Given the description of an element on the screen output the (x, y) to click on. 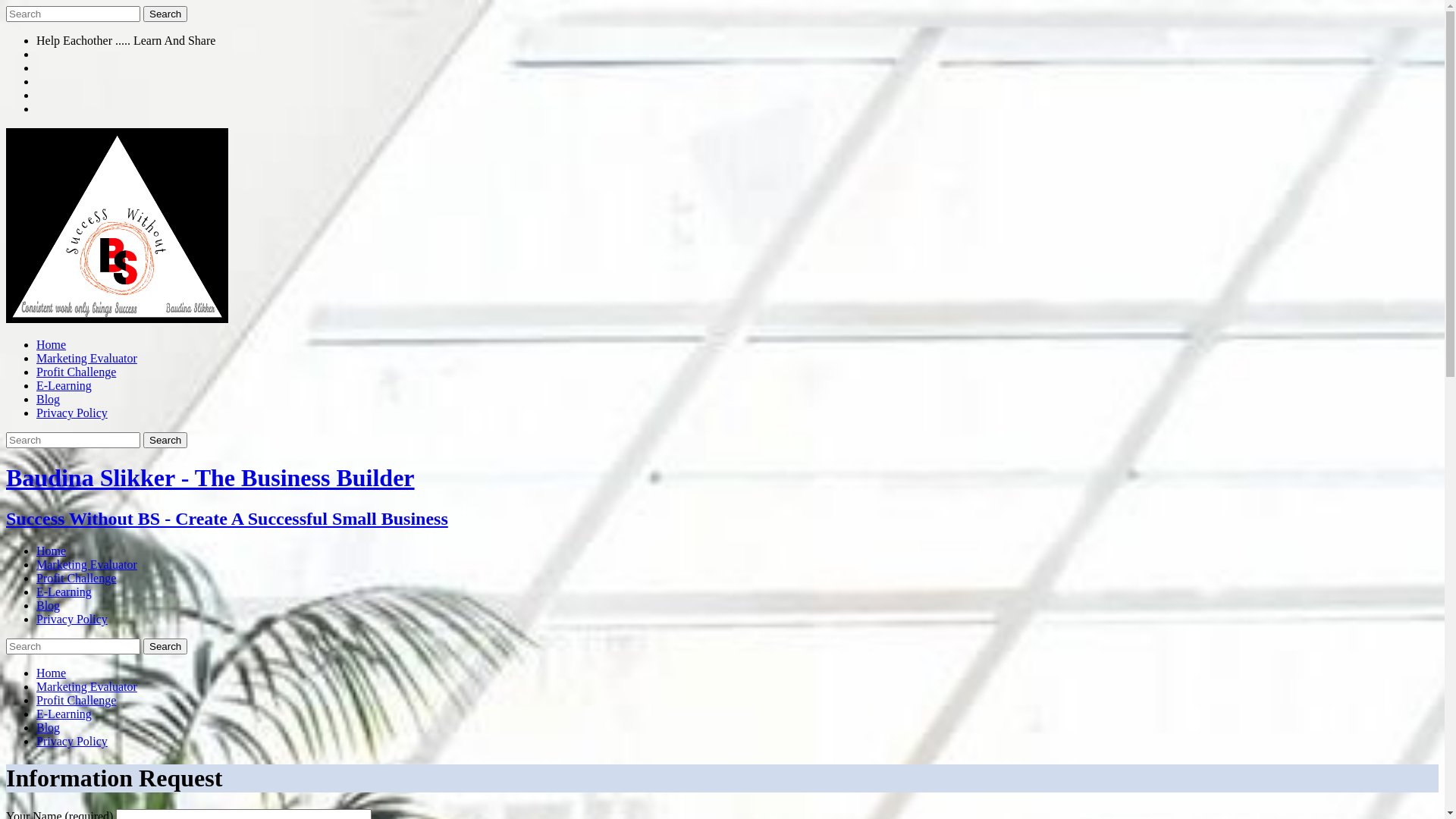
Search Element type: text (165, 13)
Privacy Policy Element type: text (71, 412)
Blog Element type: text (47, 727)
Profit Challenge Element type: text (76, 577)
Privacy Policy Element type: text (71, 618)
Profit Challenge Element type: text (76, 371)
Marketing Evaluator Element type: text (86, 357)
Blog Element type: text (47, 605)
Marketing Evaluator Element type: text (86, 564)
E-Learning Element type: text (63, 591)
Search Element type: text (165, 440)
Profit Challenge Element type: text (76, 699)
Marketing Evaluator Element type: text (86, 686)
Home Element type: text (50, 344)
Blog Element type: text (47, 398)
Search Element type: text (165, 646)
E-Learning Element type: text (63, 385)
Home Element type: text (50, 672)
E-Learning Element type: text (63, 713)
Privacy Policy Element type: text (71, 740)
Home Element type: text (50, 550)
